Given the description of an element on the screen output the (x, y) to click on. 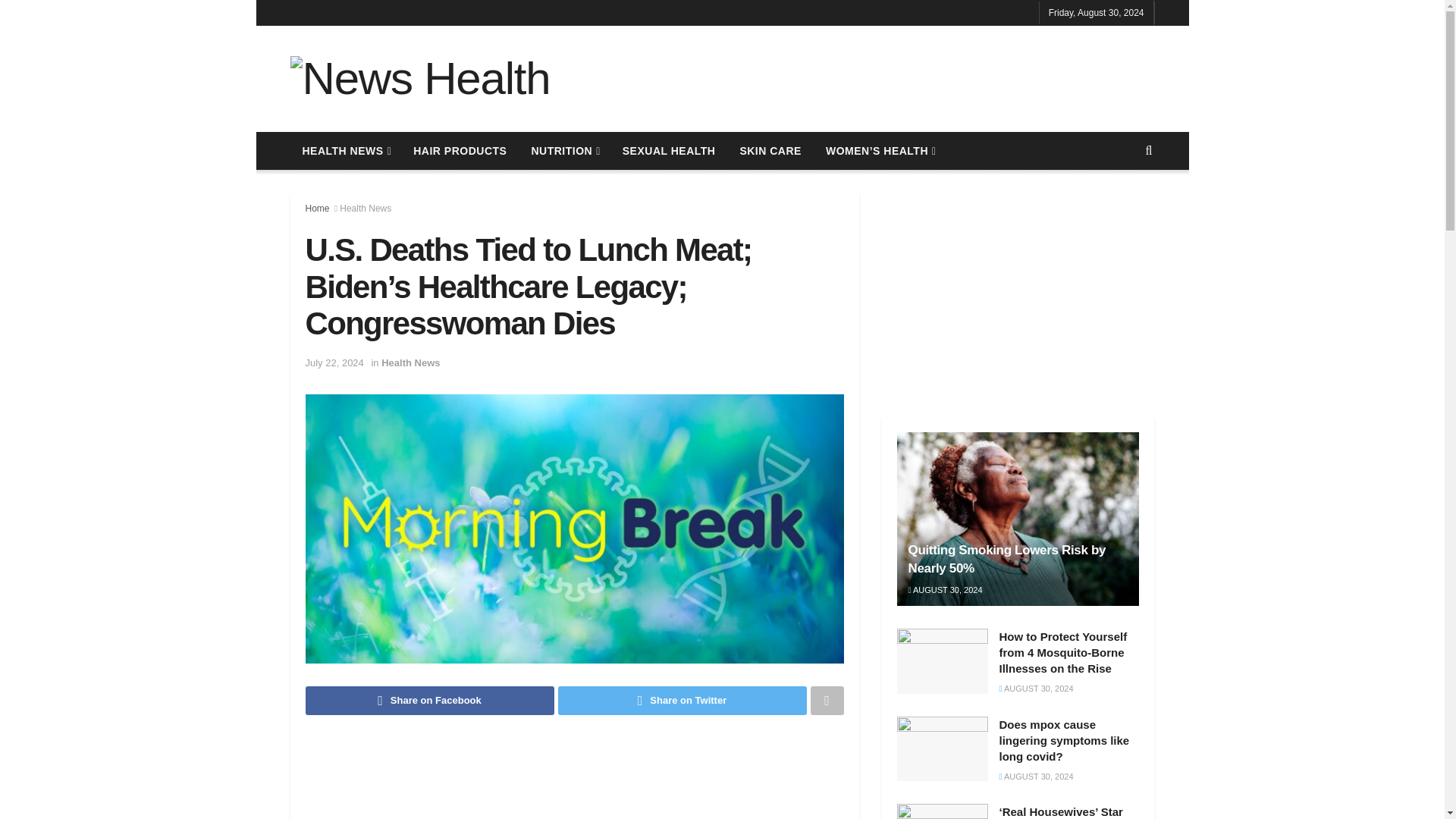
SEXUAL HEALTH (669, 150)
HAIR PRODUCTS (459, 150)
Share on Facebook (428, 700)
Health News (365, 208)
Home (316, 208)
Health News (410, 362)
SKIN CARE (769, 150)
HEALTH NEWS (345, 150)
NUTRITION (564, 150)
July 22, 2024 (333, 362)
